Given the description of an element on the screen output the (x, y) to click on. 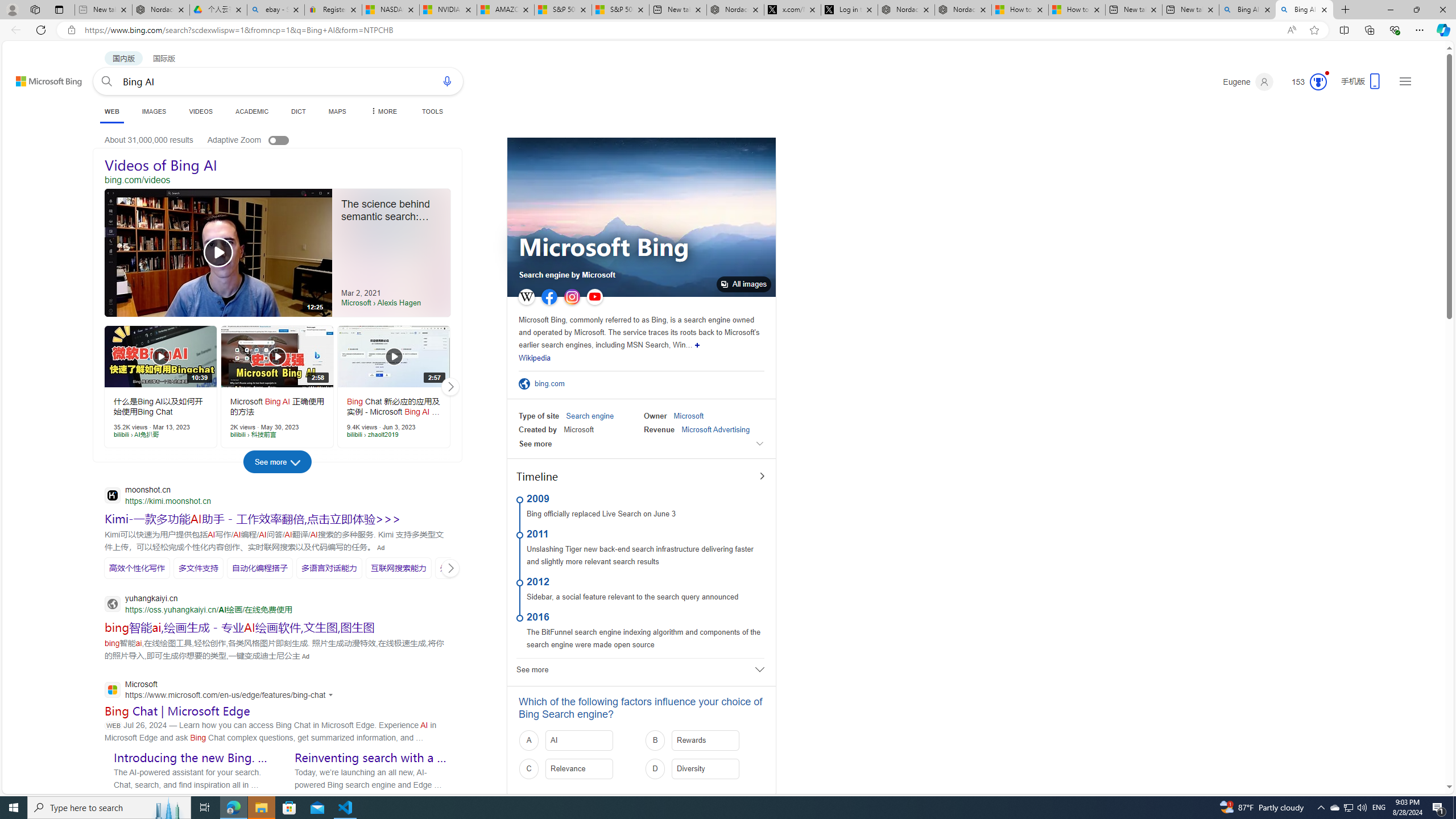
SERP,5718 (398, 567)
Back to Bing search (41, 78)
Show more (697, 344)
Class: sp-ofsite (523, 383)
D Diversity (704, 768)
Official Site (526, 383)
